Given the description of an element on the screen output the (x, y) to click on. 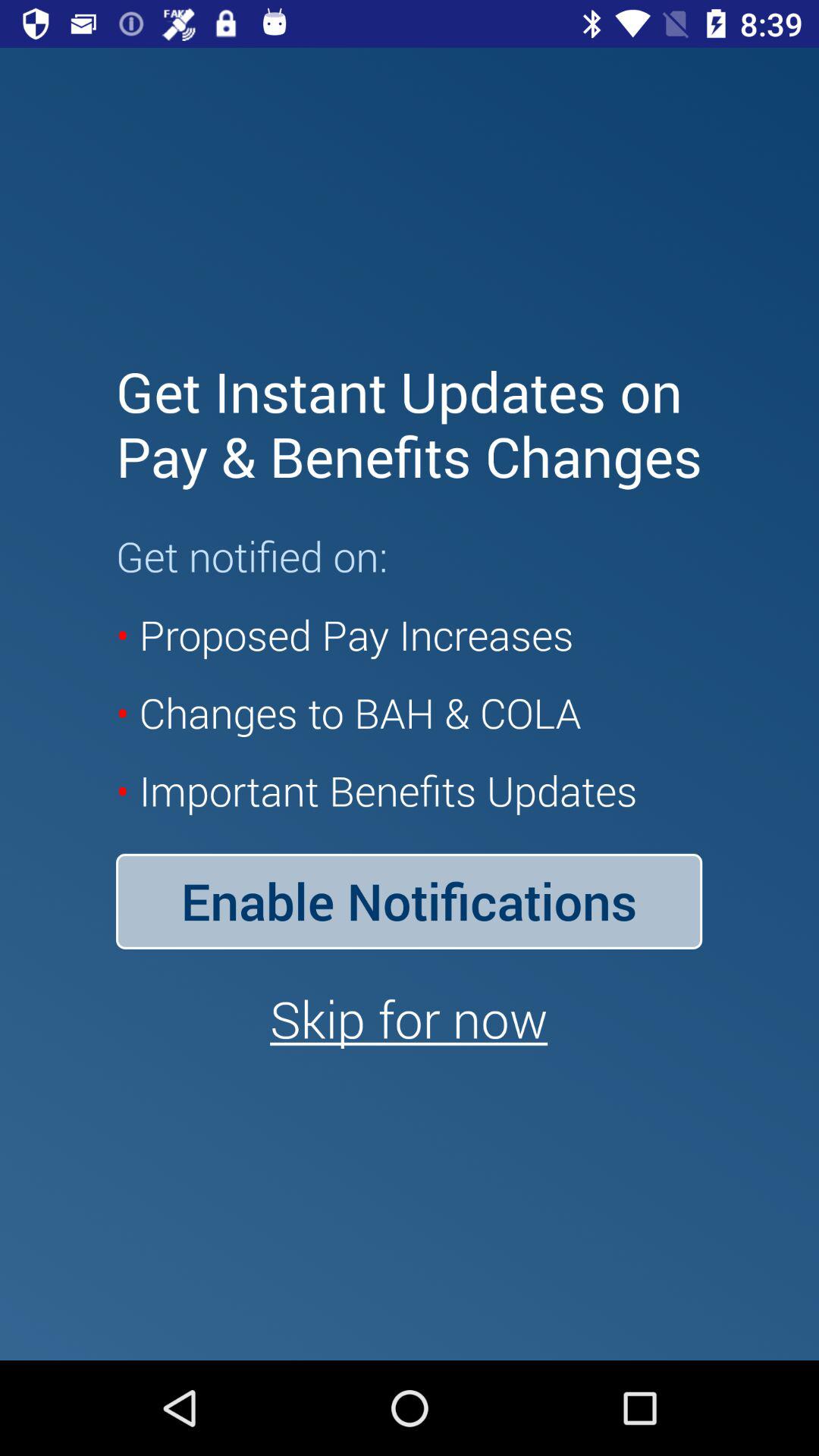
press the icon below enable notifications item (409, 1018)
